Given the description of an element on the screen output the (x, y) to click on. 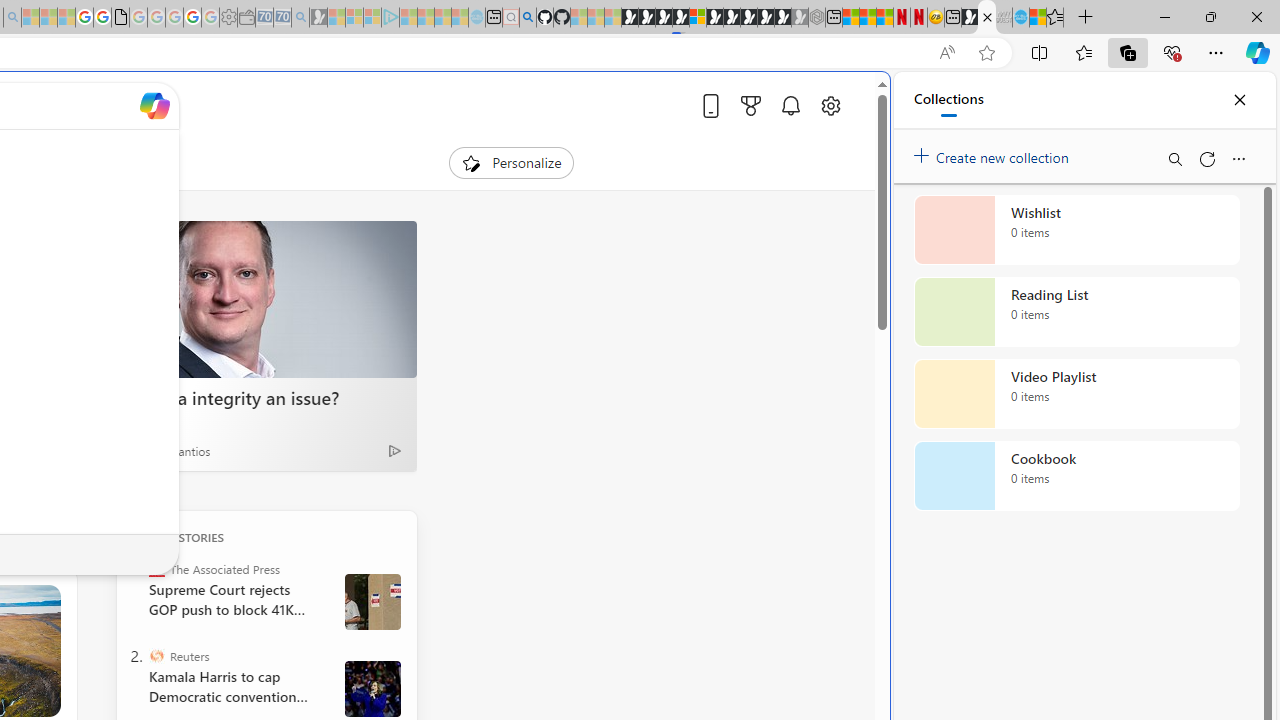
Services - Maintenance | Sky Blue Bikes - Sky Blue Bikes (1020, 17)
Video Playlist collection, 0 items (1076, 394)
